Given the description of an element on the screen output the (x, y) to click on. 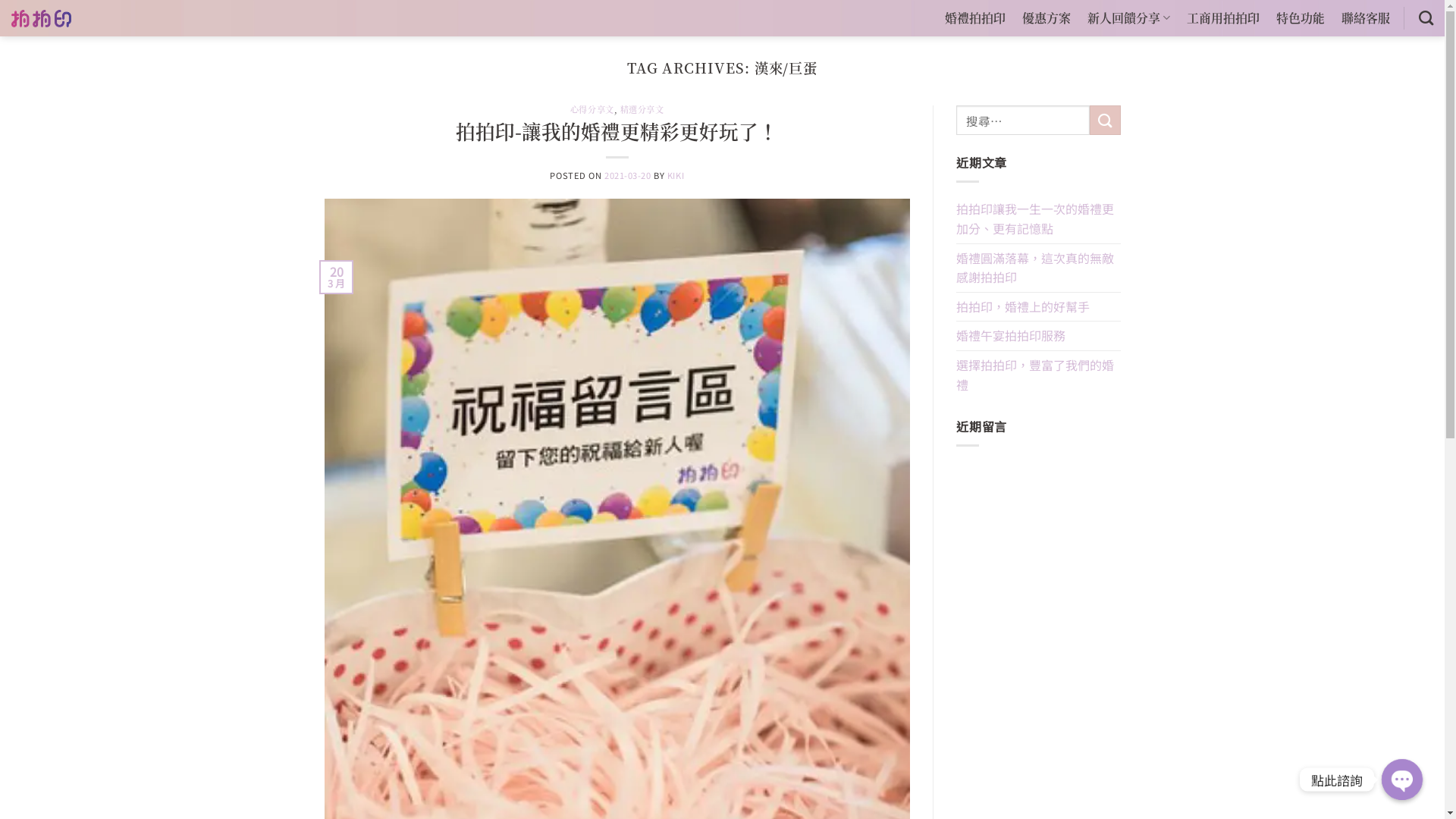
2021-03-20 Element type: text (627, 175)
KIKI Element type: text (675, 175)
